Given the description of an element on the screen output the (x, y) to click on. 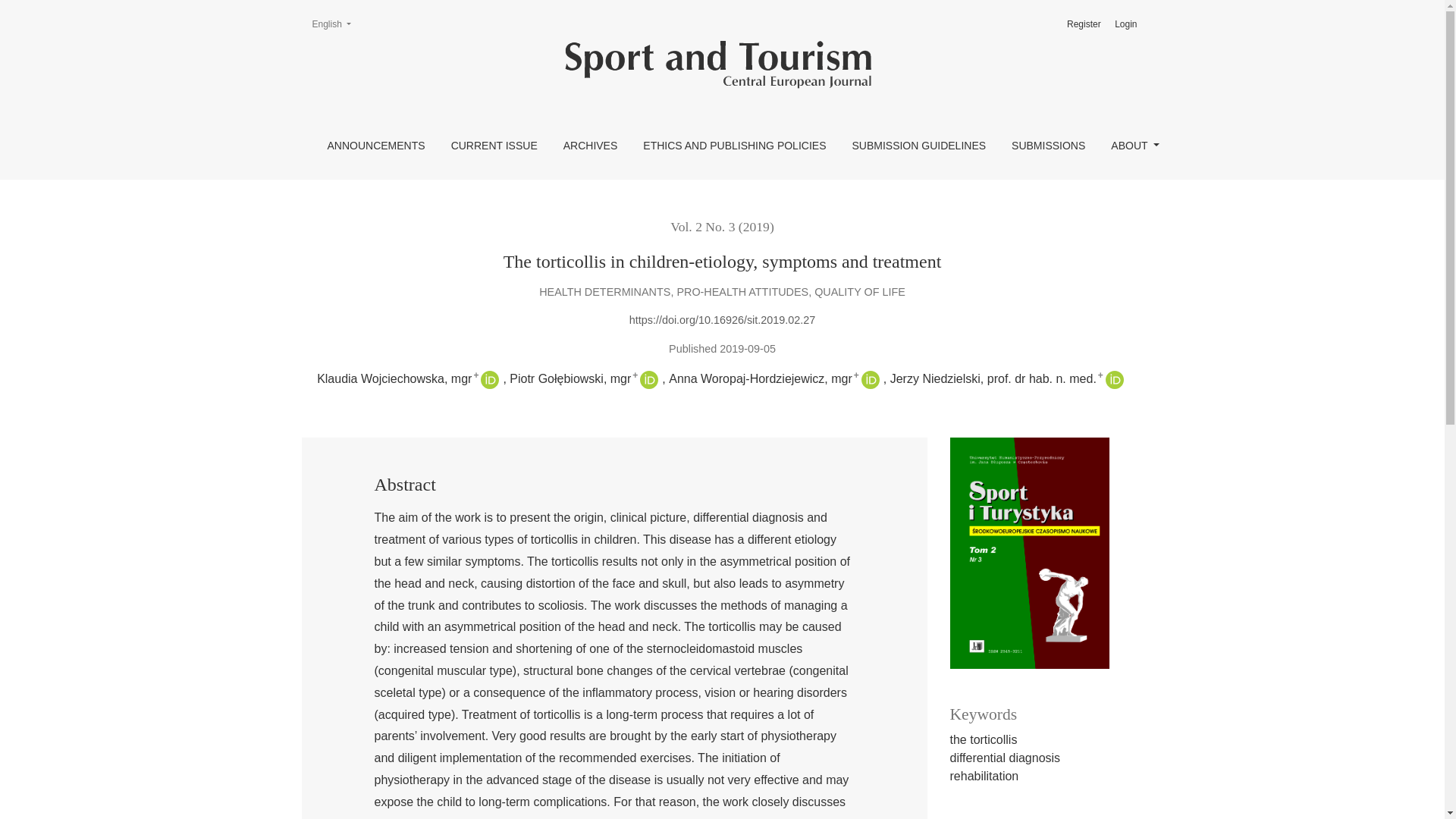
CURRENT ISSUE (494, 145)
ANNOUNCEMENTS (376, 145)
ARCHIVES (590, 145)
SUBMISSION GUIDELINES (918, 145)
Login (1125, 24)
ABOUT (1134, 145)
Register (1083, 24)
SUBMISSIONS (1047, 145)
ETHICS AND PUBLISHING POLICIES (331, 24)
